Given the description of an element on the screen output the (x, y) to click on. 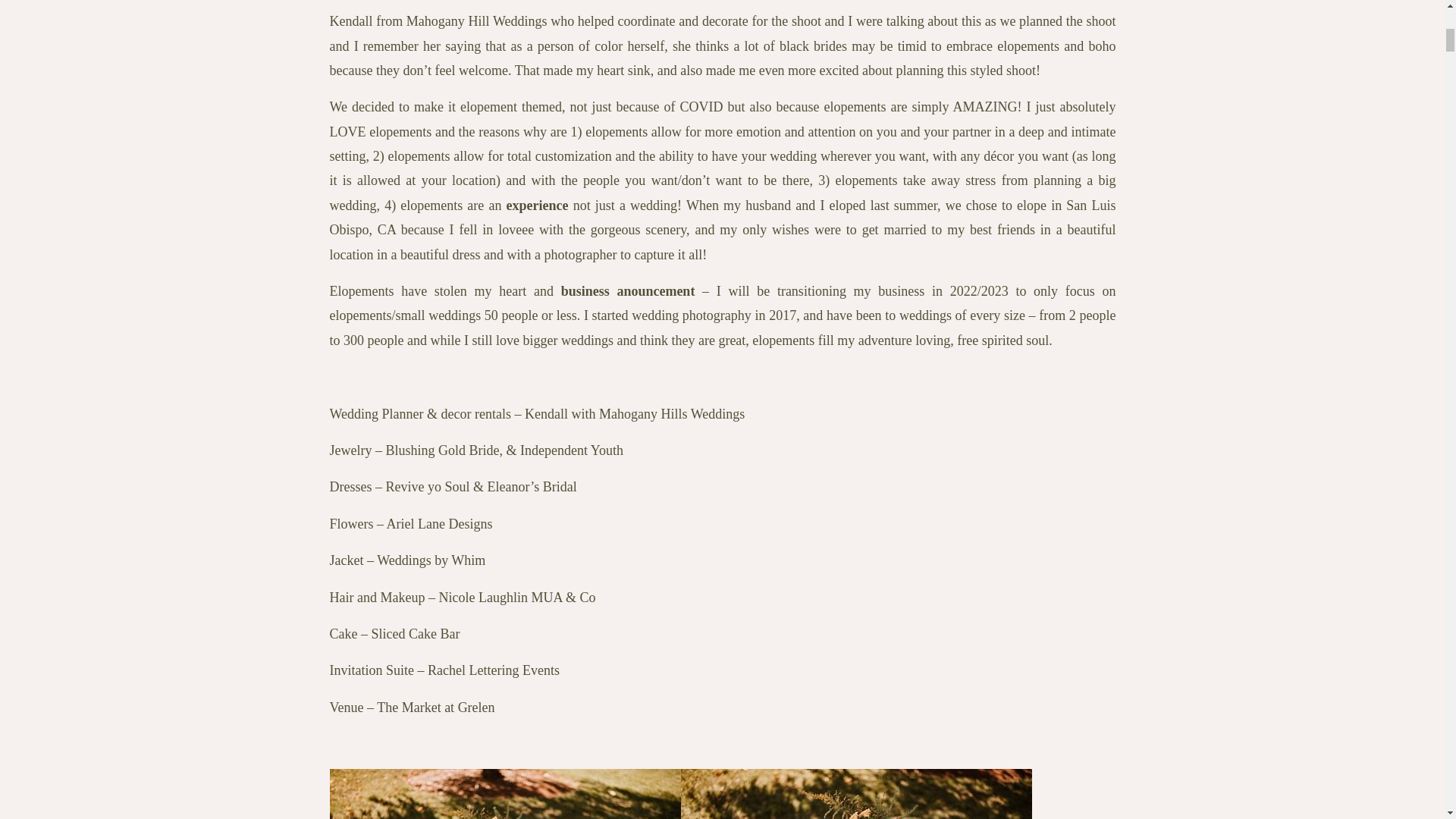
Mahogany Hills Weddings (671, 413)
Ariel Lane Designs (440, 523)
Revive yo Soul (426, 486)
Sliced Cake Bar (415, 633)
Independent Youth (571, 450)
The Market at Grelen (436, 707)
Blushing Gold Bride (442, 450)
Rachel Lettering Events (493, 670)
Weddings by Whim (430, 560)
